Given the description of an element on the screen output the (x, y) to click on. 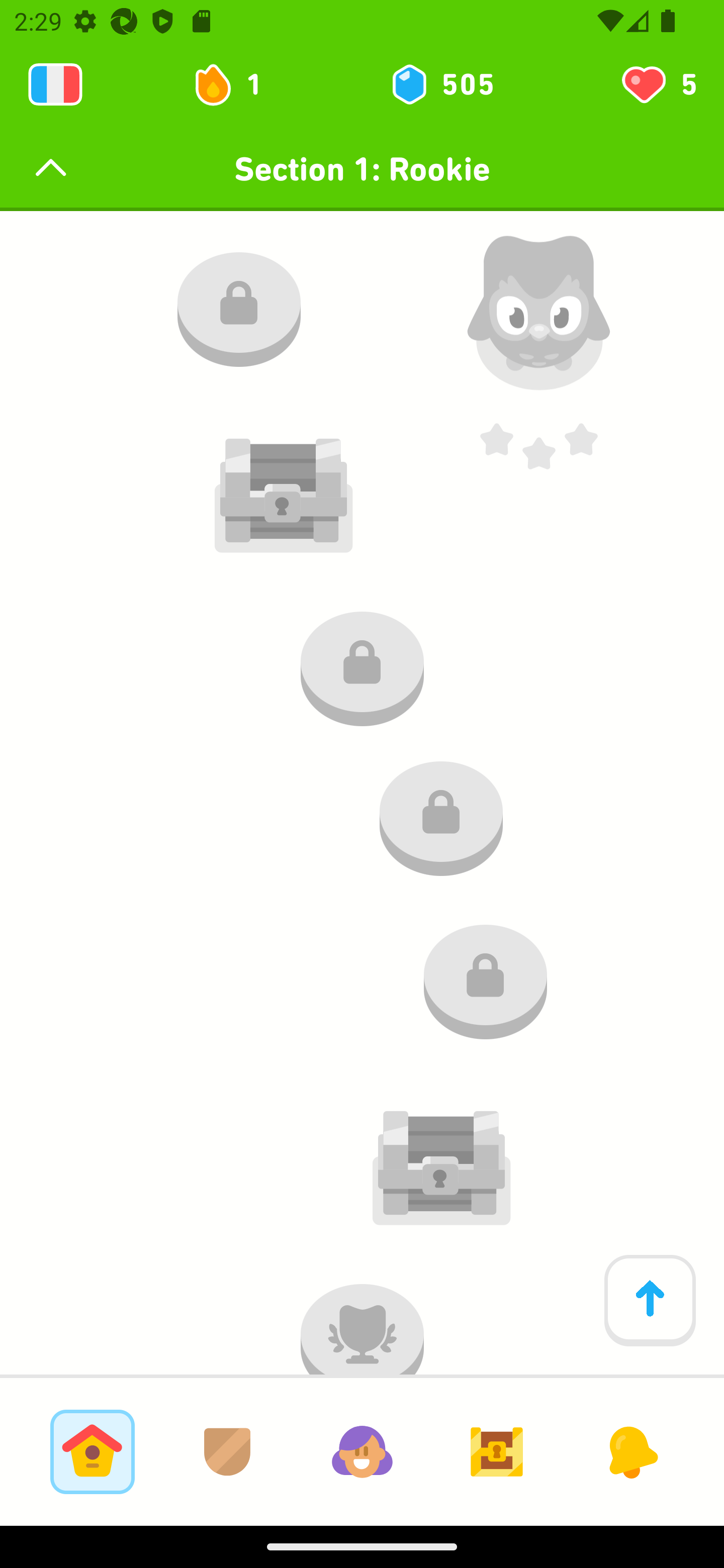
Learning 2131888976 (55, 84)
1 day streak 1 (236, 84)
505 (441, 84)
You have 5 hearts left 5 (657, 84)
Section 1: Rookie (362, 169)
Learn Tab (91, 1451)
Leagues Tab (227, 1451)
Profile Tab (361, 1451)
Goals Tab (496, 1451)
News Tab (631, 1451)
